Given the description of an element on the screen output the (x, y) to click on. 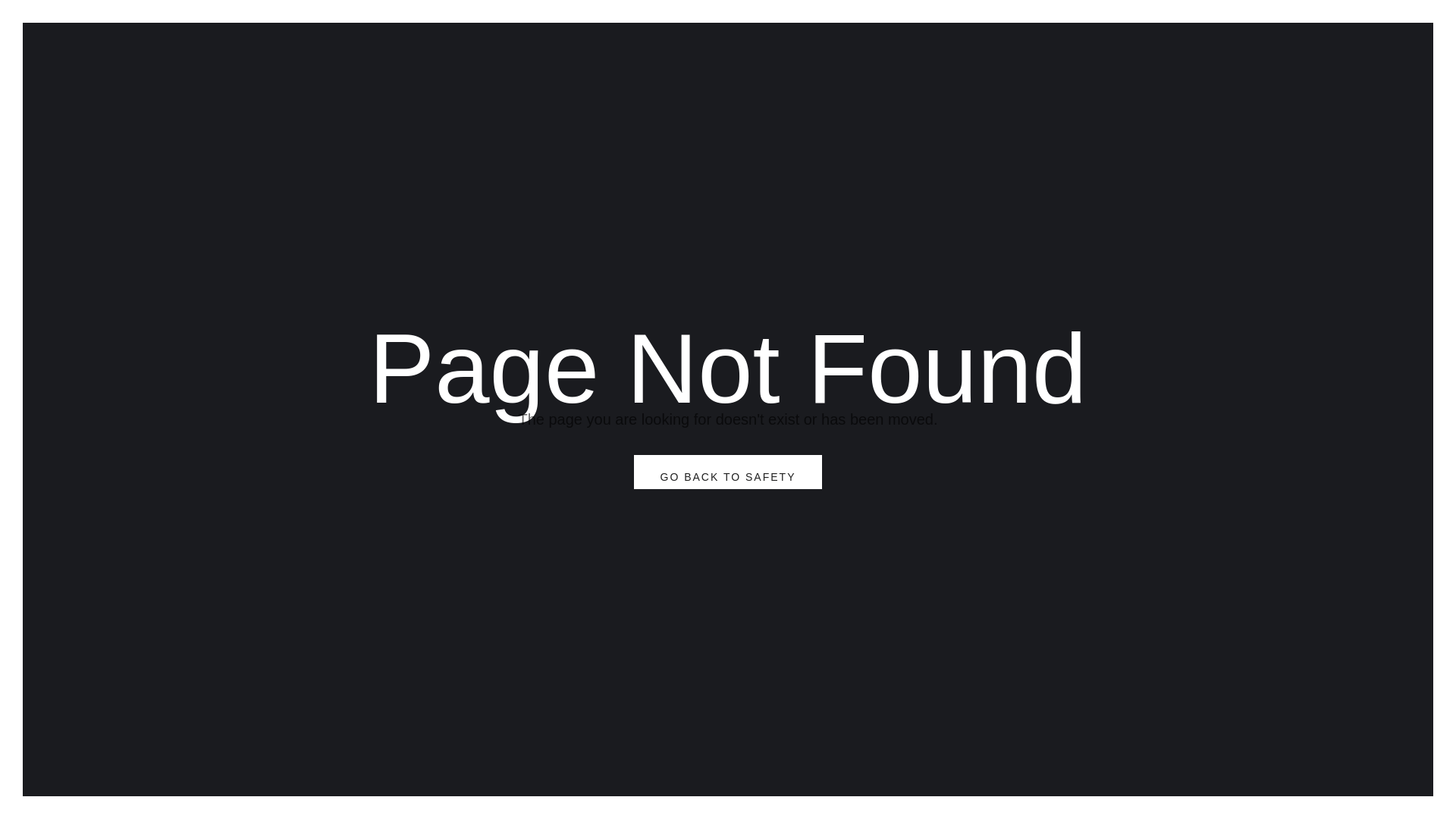
GO BACK TO SAFETY Element type: text (727, 472)
